Given the description of an element on the screen output the (x, y) to click on. 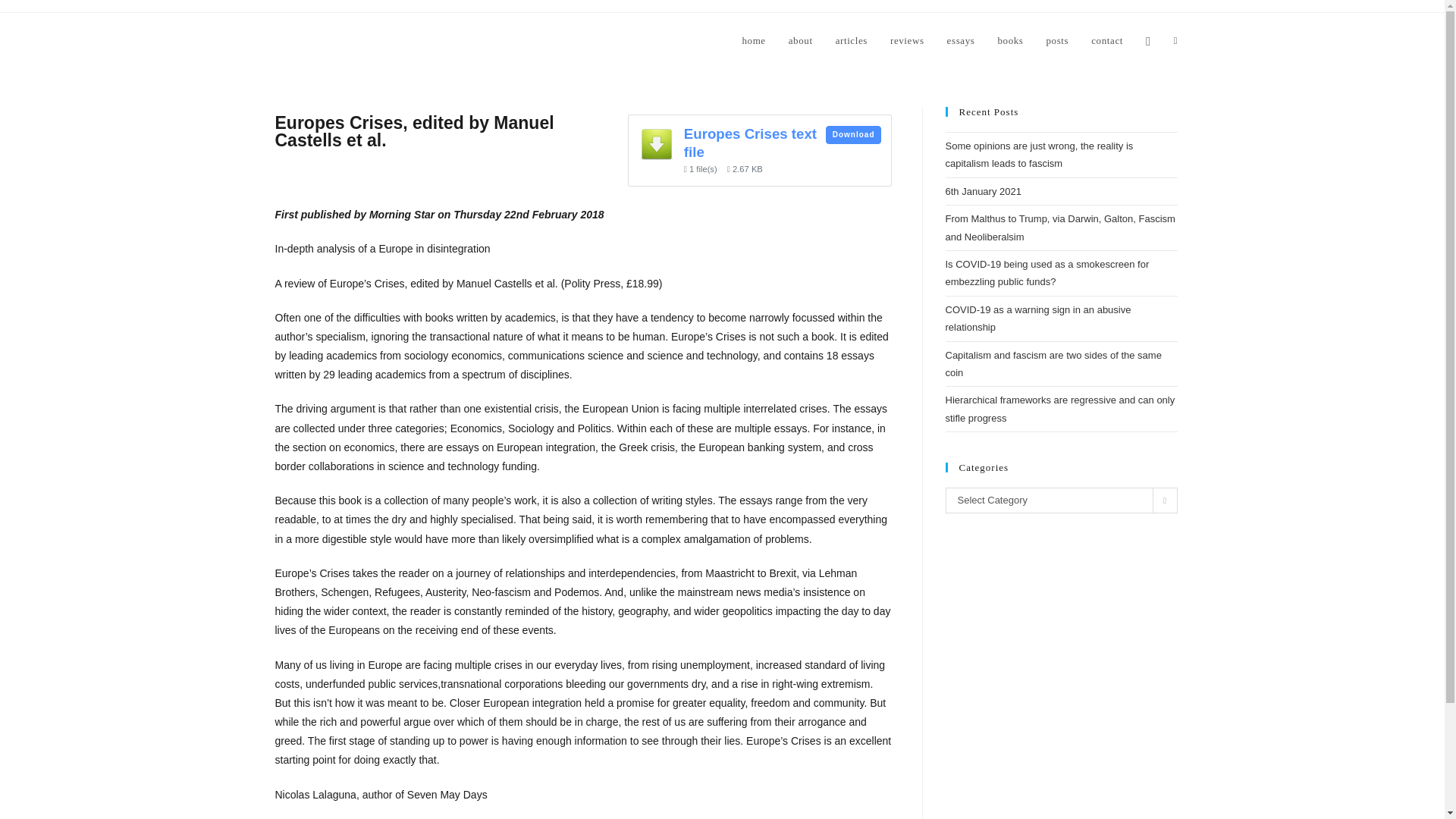
Download (852, 135)
COVID-19 as a warning sign in an abusive relationship (1037, 317)
essays (961, 40)
Capitalism and fascism are two sides of the same coin (1052, 363)
contact (1107, 40)
Europes Crises text file (750, 142)
articles (851, 40)
